Given the description of an element on the screen output the (x, y) to click on. 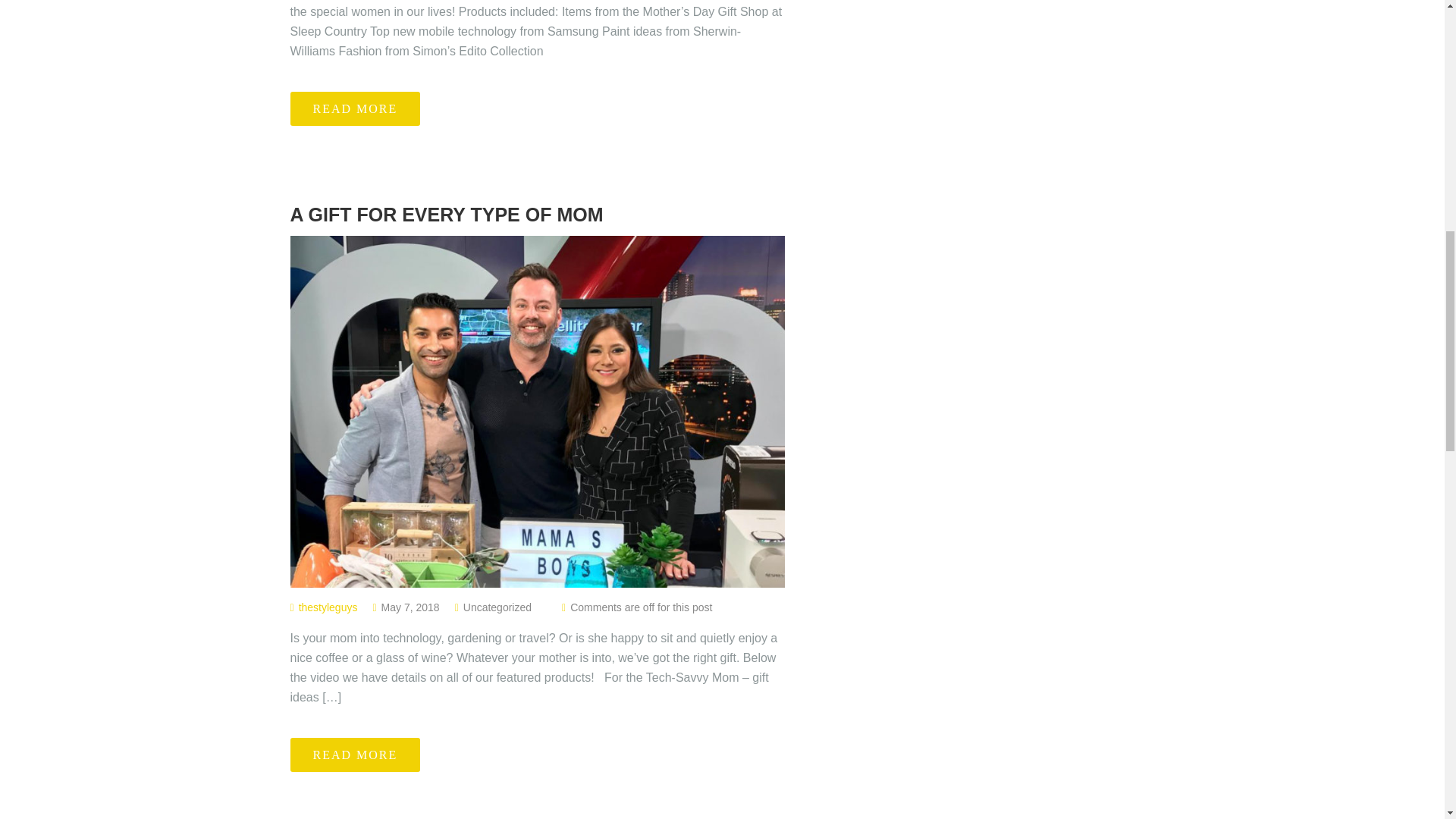
Read more (354, 108)
READ MORE (354, 754)
Uncategorized (497, 607)
READ MORE (354, 108)
A GIFT FOR EVERY TYPE OF MOM (536, 214)
Read more (354, 754)
A Gift for Every Type of Mom (536, 214)
